Given the description of an element on the screen output the (x, y) to click on. 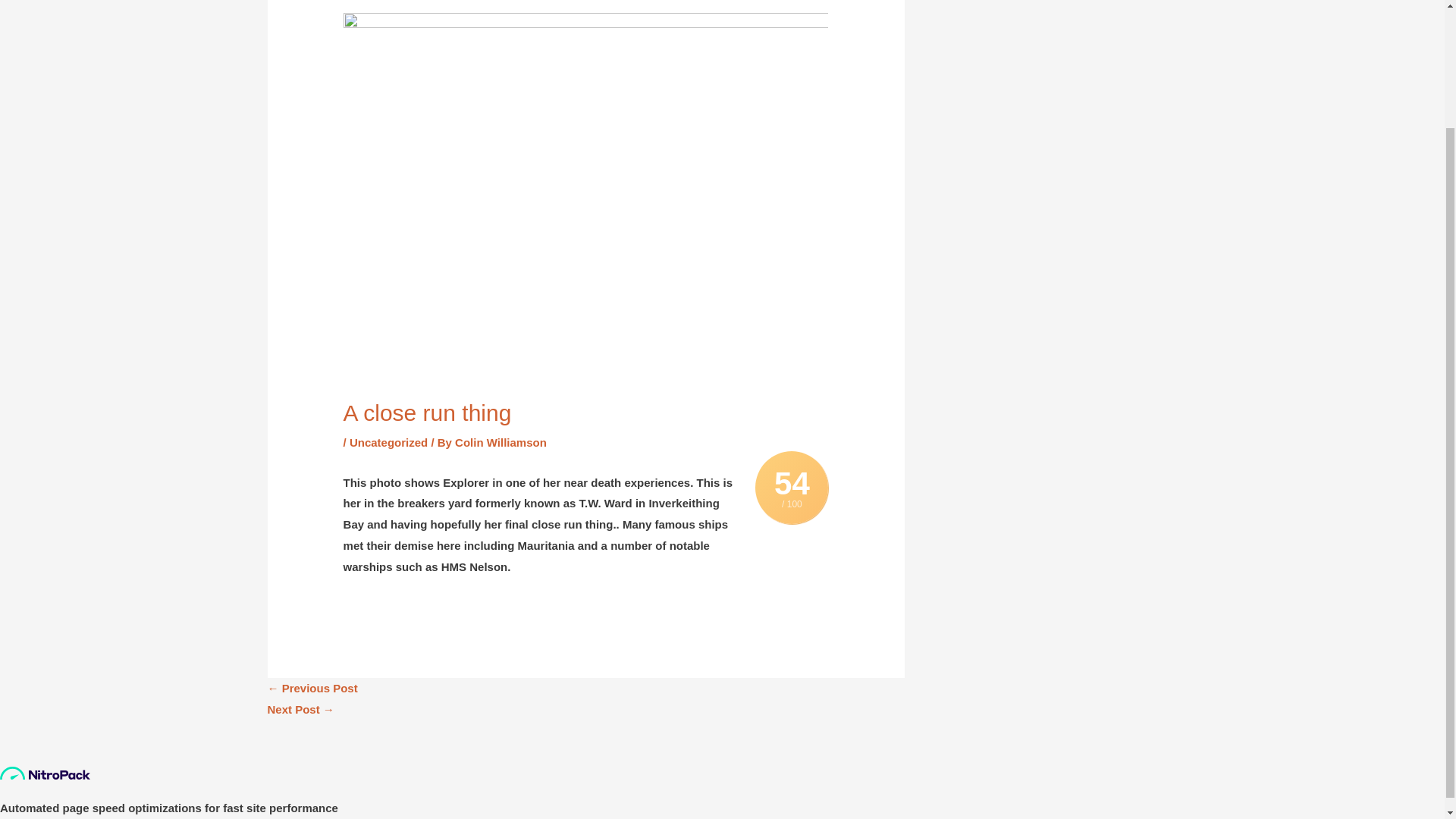
View all posts by Colin Williamson (500, 441)
Government Property (311, 687)
Our new revenue stream (299, 708)
